Given the description of an element on the screen output the (x, y) to click on. 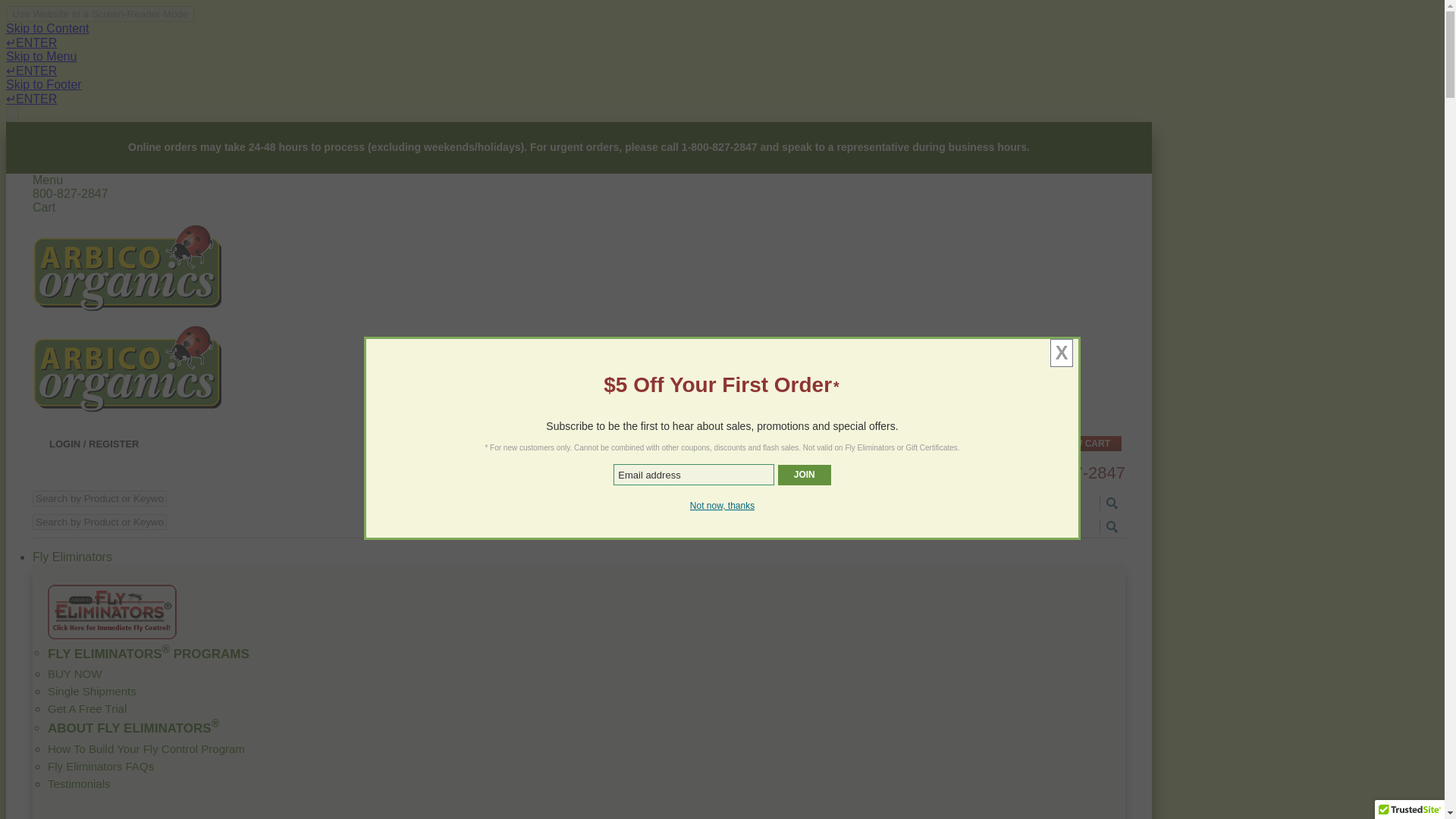
VIEW CART (1084, 443)
ARBICO Organics (127, 267)
Get A Free Trials (578, 708)
Order Fly Eliminators Today (112, 635)
Fly Eliminators - Single Shipments (578, 691)
ARBICO Organics (127, 308)
JOIN (804, 475)
BUY NOW (578, 673)
ARBICO Organics Account Login (85, 445)
Not now, thanks (722, 505)
ARBICO Organics (127, 408)
Email address (693, 474)
ARBICO Organics (127, 368)
